Given the description of an element on the screen output the (x, y) to click on. 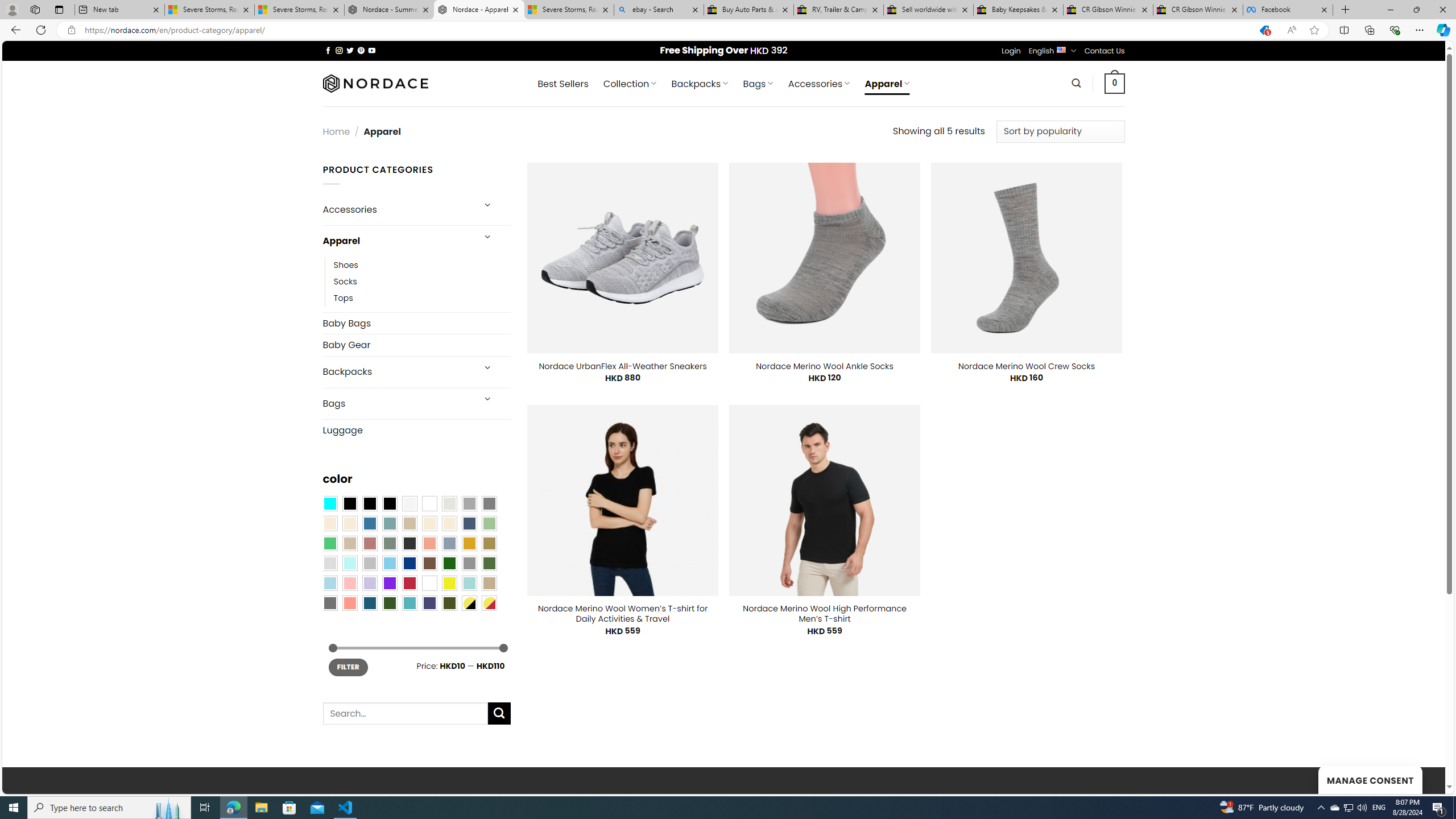
Black (369, 503)
Silver (369, 562)
Charcoal (408, 542)
Black-Brown (389, 503)
Go to top (1421, 777)
Peach Pink (349, 602)
Army Green (449, 602)
Sage (389, 542)
Tops (343, 297)
English (1061, 49)
